Given the description of an element on the screen output the (x, y) to click on. 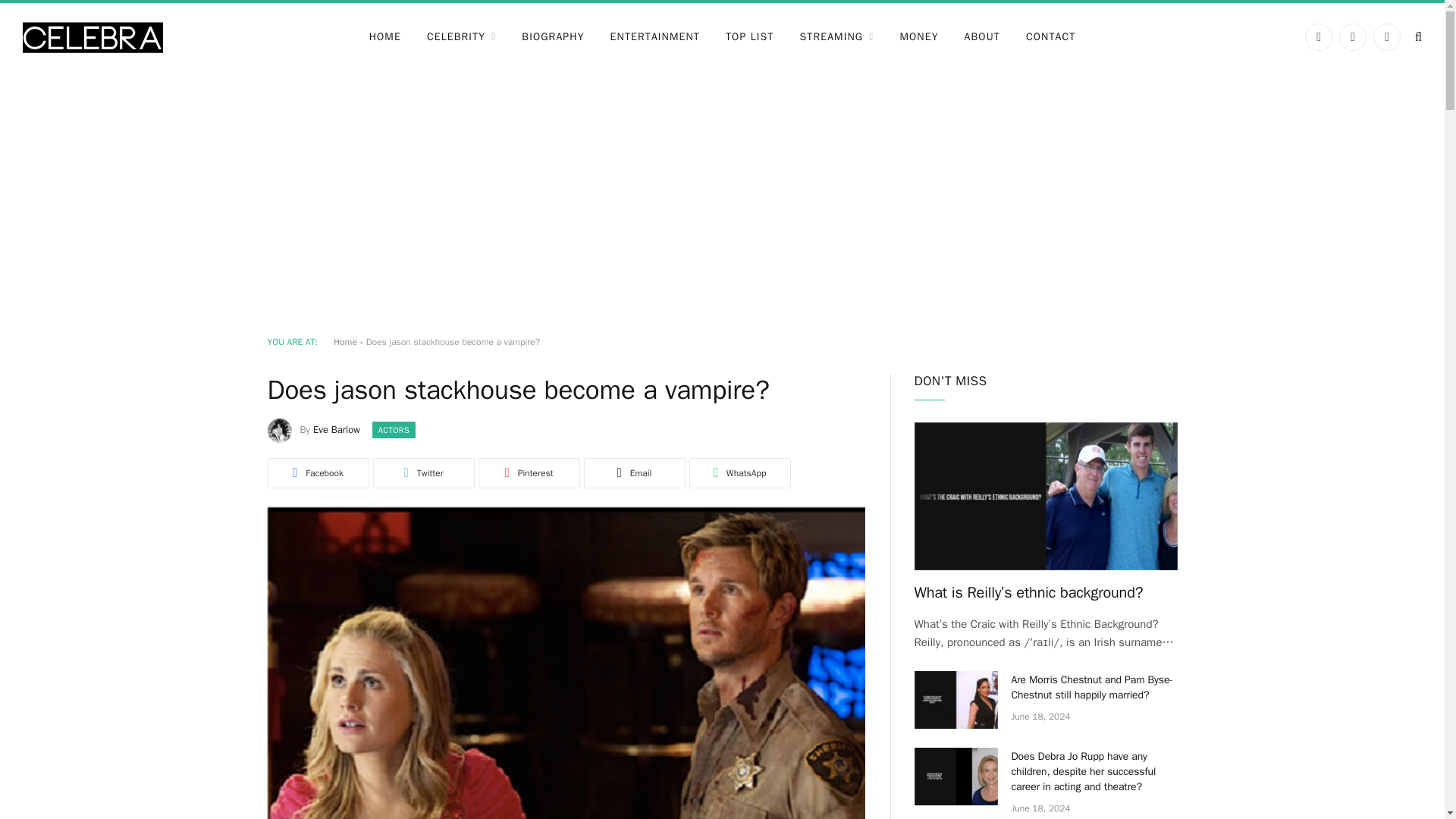
ENTERTAINMENT (654, 37)
Instagram (1386, 36)
ABOUT (982, 37)
BIOGRAPHY (552, 37)
Facebook (1318, 36)
Home (344, 341)
Eve Barlow (336, 429)
CELEBRITY (460, 37)
ACTORS (393, 429)
Share on Facebook (317, 472)
